Given the description of an element on the screen output the (x, y) to click on. 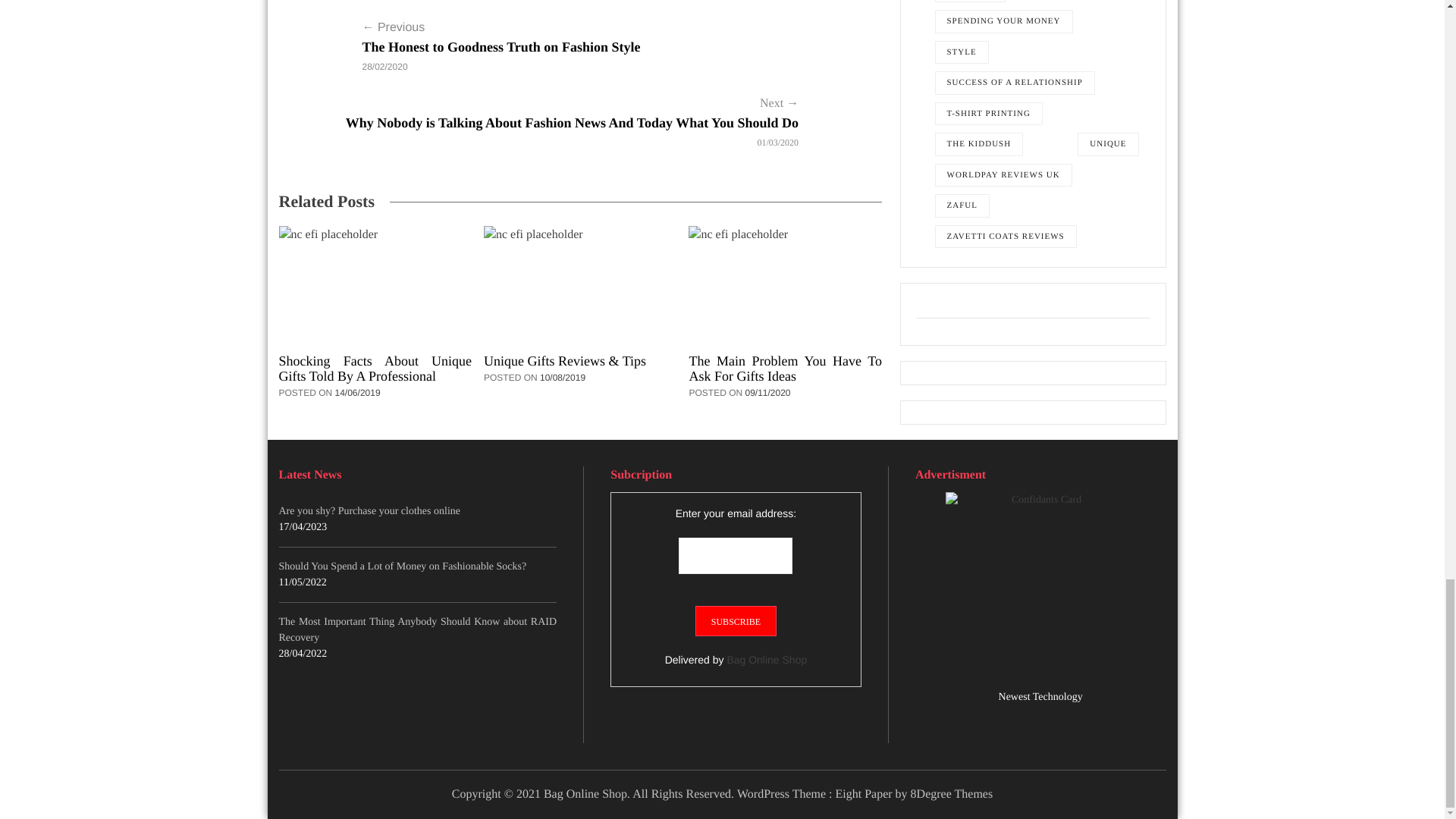
Subscribe (735, 621)
The Main Problem You Have To Ask For Gifts Ideas (785, 368)
Shocking Facts About Unique Gifts Told By A Professional (375, 284)
The Honest to Goodness Truth on Fashion Style (317, 56)
Shocking Facts About Unique Gifts Told By A Professional (375, 368)
The Main Problem You Have To Ask For Gifts Ideas (785, 284)
The Honest to Goodness Truth on Fashion Style (501, 46)
Free WordPress Theme (865, 793)
